Given the description of an element on the screen output the (x, y) to click on. 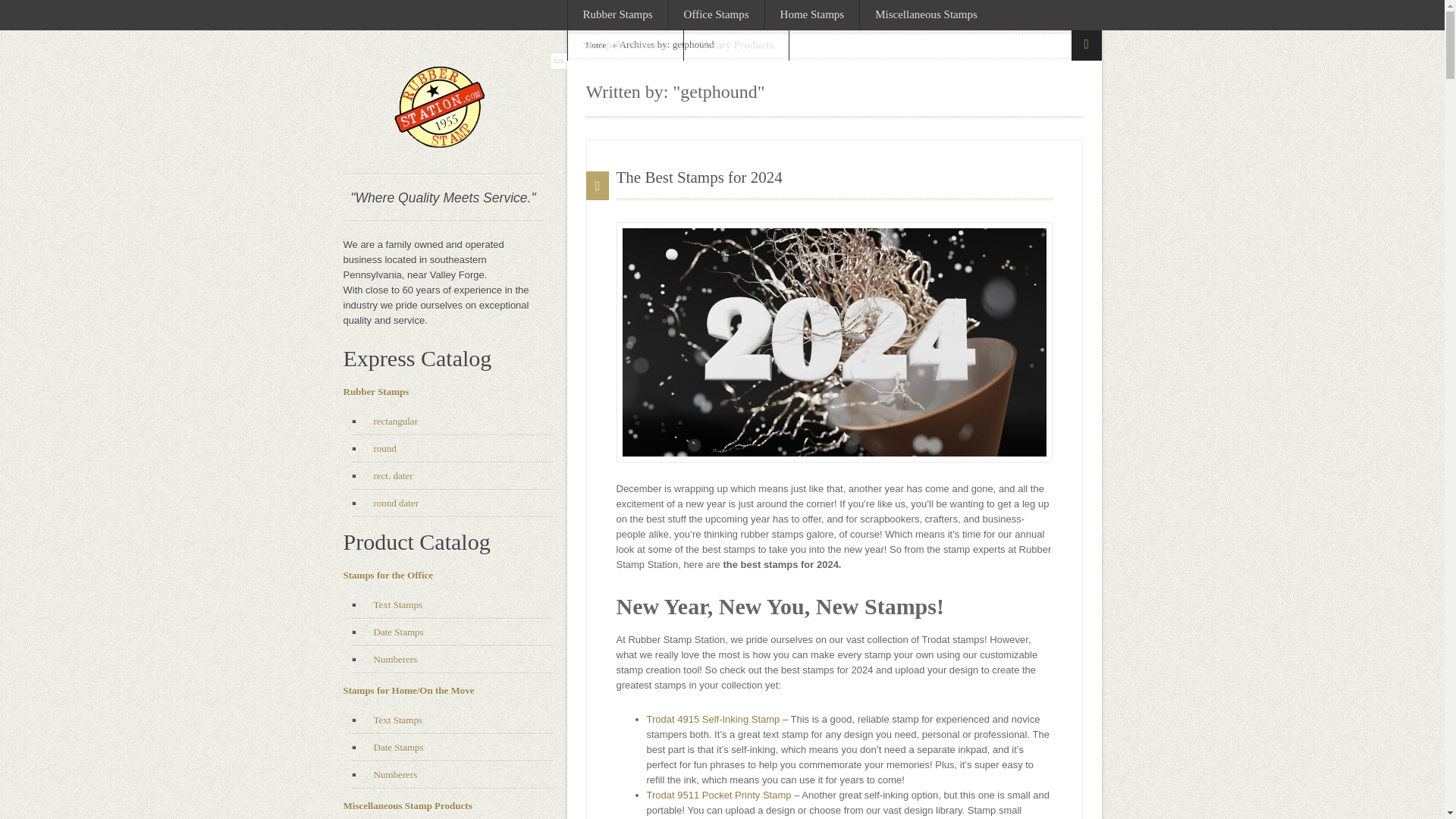
rect. dater (388, 475)
Rubber Stamps (375, 391)
Text Stamps (393, 720)
Home Stamps (812, 15)
Miscellaneous Stamps (926, 15)
Stamps for the Office (387, 574)
round (380, 448)
Office Stamps (716, 15)
round dater (392, 503)
Numberers (390, 774)
